Given the description of an element on the screen output the (x, y) to click on. 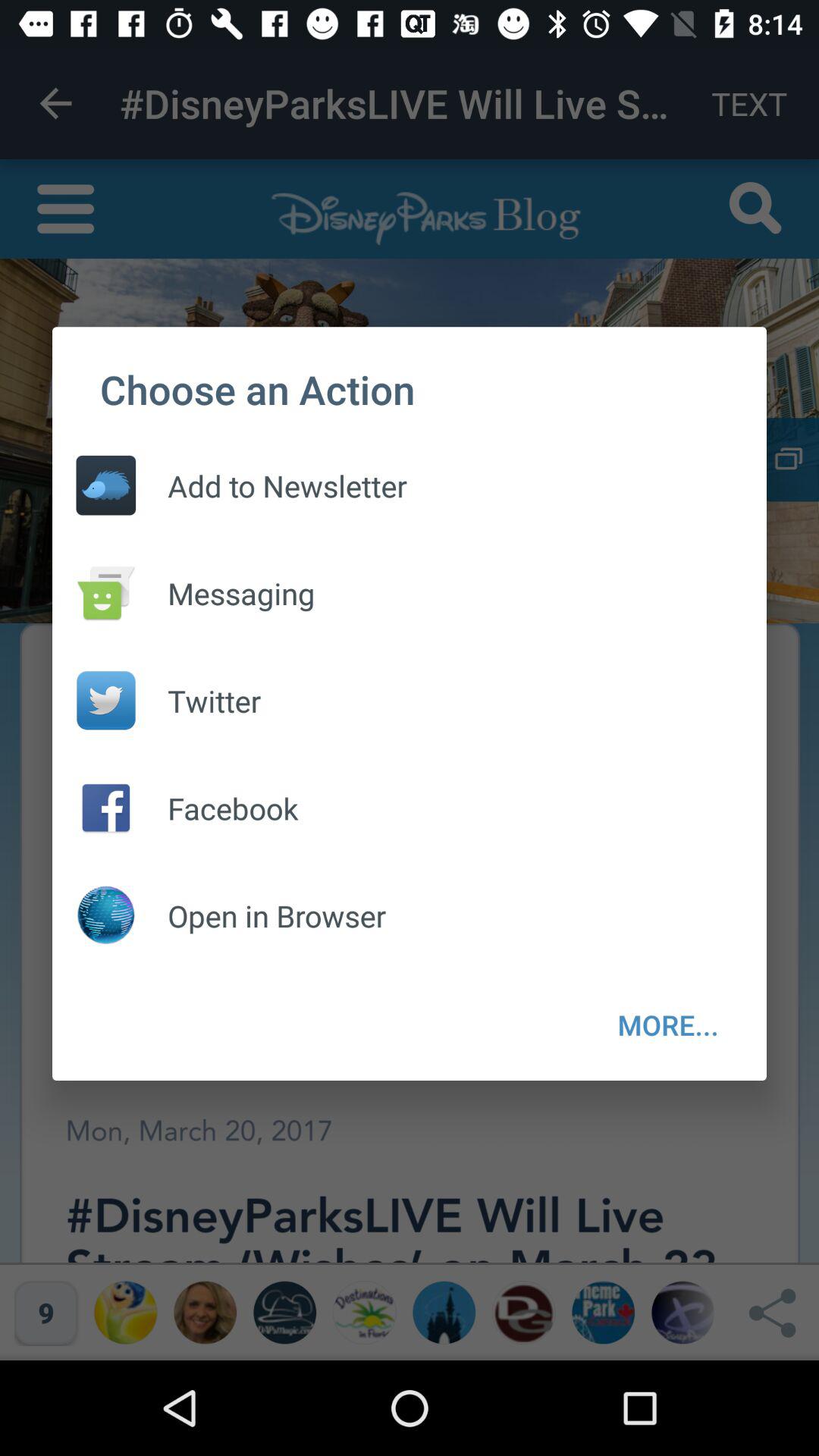
turn off the open in browser icon (260, 915)
